Given the description of an element on the screen output the (x, y) to click on. 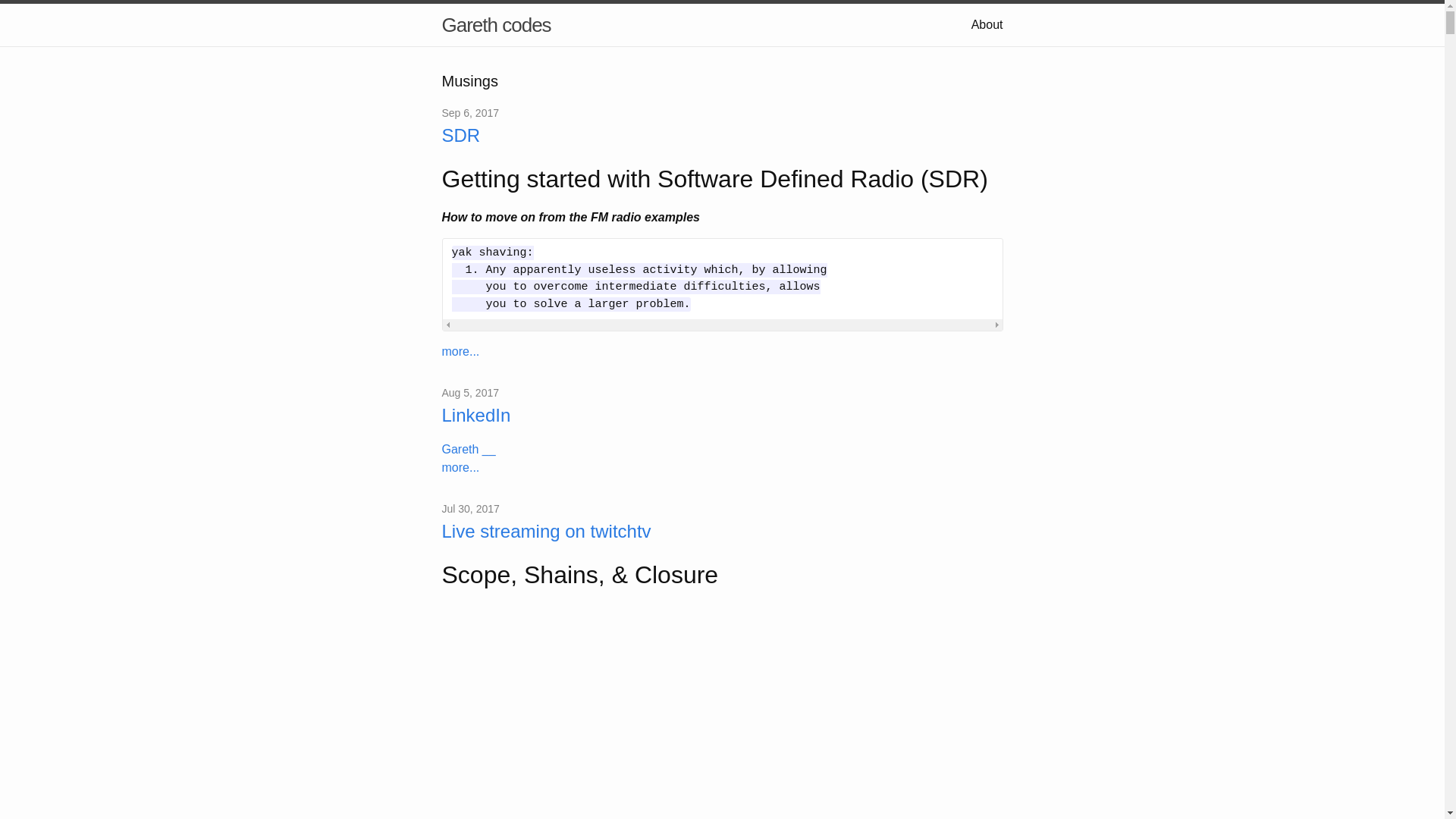
Gareth codes Element type: text (495, 24)
more... Element type: text (460, 351)
LinkedIn Element type: text (721, 415)
About Element type: text (987, 24)
Gareth __ Element type: text (468, 448)
more... Element type: text (460, 467)
SDR Element type: text (721, 135)
Live streaming on twitchtv Element type: text (721, 531)
